Given the description of an element on the screen output the (x, y) to click on. 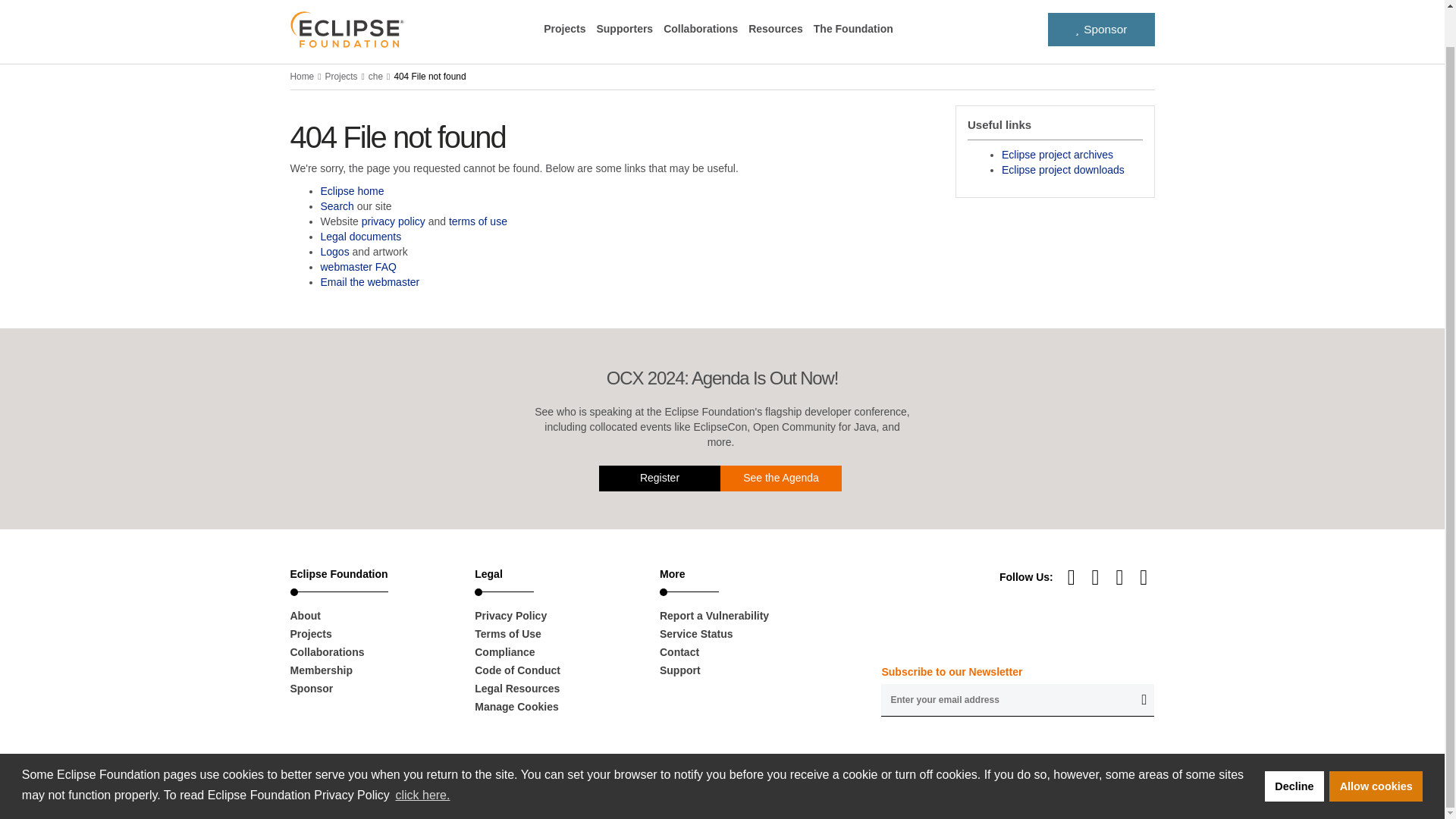
Resources (775, 29)
Supporters (623, 29)
Twitter (1143, 576)
The Foundation (853, 29)
Collaborations (700, 29)
Decline (1294, 747)
Sponsor (1101, 29)
Allow cookies (1375, 747)
click here. (422, 756)
YouTube Channel (1072, 576)
